Given the description of an element on the screen output the (x, y) to click on. 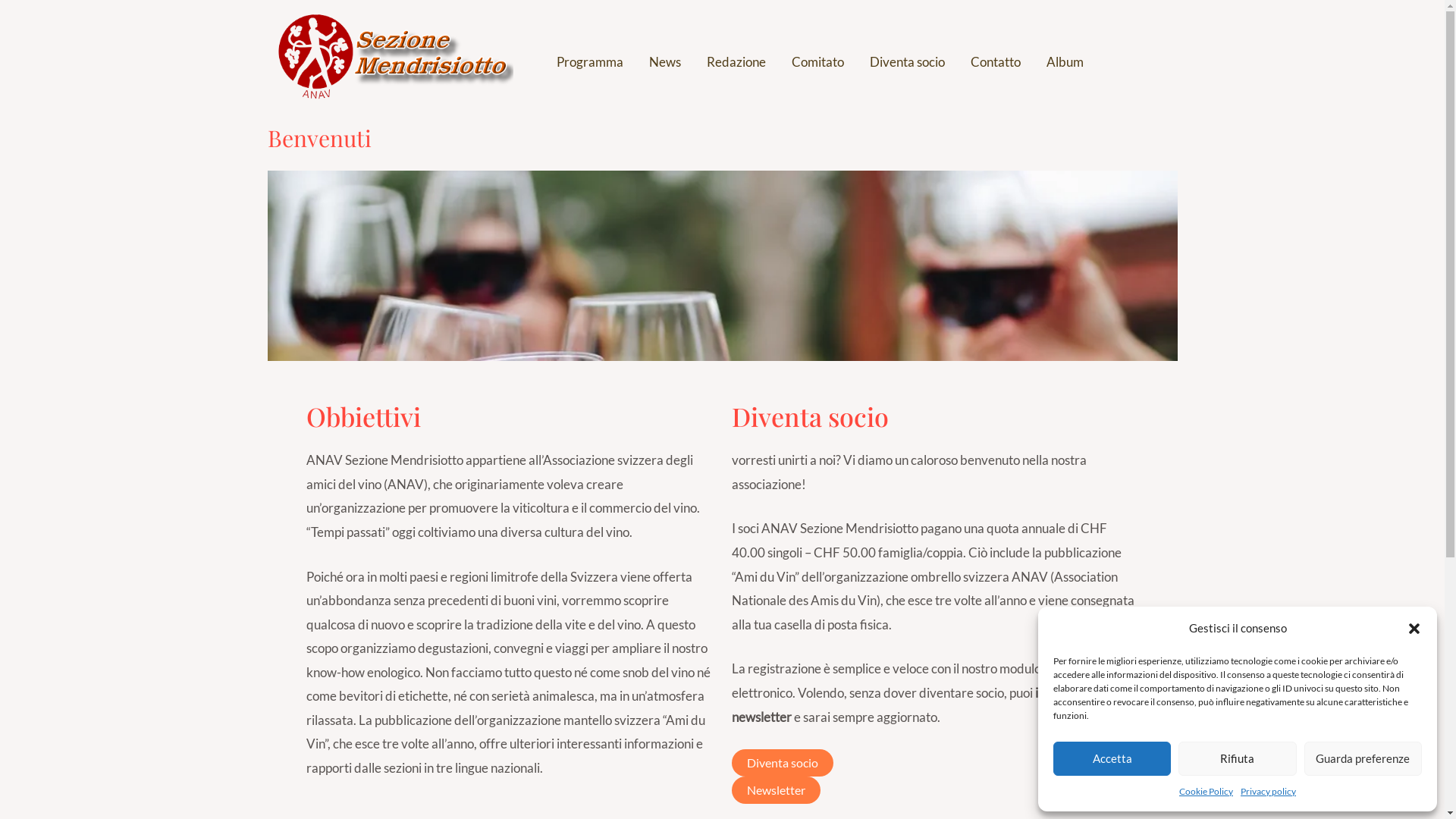
Cookie Policy Element type: text (1206, 791)
Newsletter Element type: text (775, 789)
News Element type: text (664, 61)
Rifiuta Element type: text (1236, 758)
Comitato Element type: text (817, 61)
Diventa socio Element type: text (906, 61)
Privacy policy Element type: text (1267, 791)
Album Element type: text (1063, 61)
Diventa socio Element type: text (781, 762)
Guarda preferenze Element type: text (1362, 758)
Contatto Element type: text (994, 61)
Programma Element type: text (588, 61)
Accetta Element type: text (1111, 758)
Redazione Element type: text (735, 61)
